Given the description of an element on the screen output the (x, y) to click on. 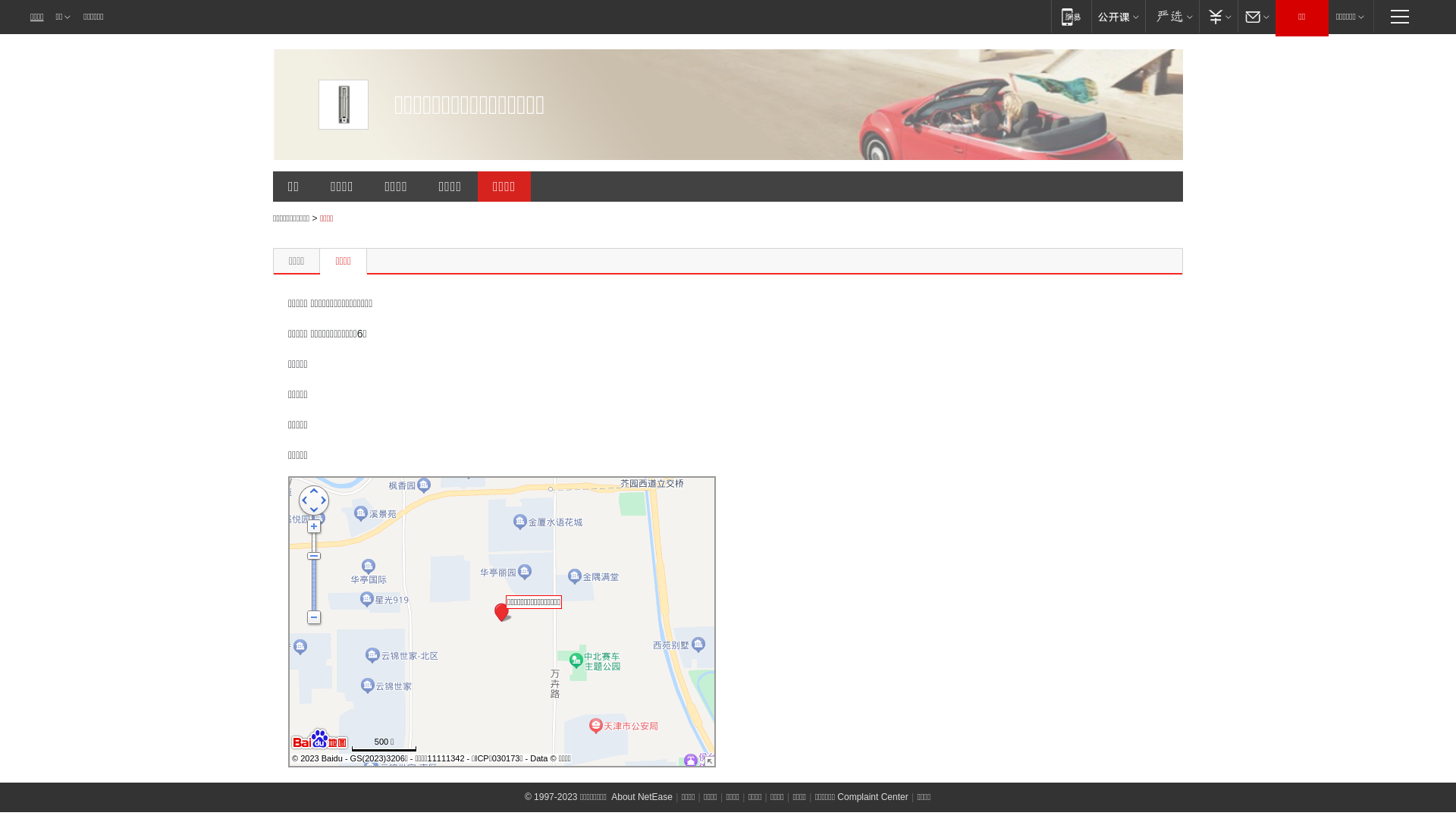
About NetEase Element type: text (641, 796)
